Given the description of an element on the screen output the (x, y) to click on. 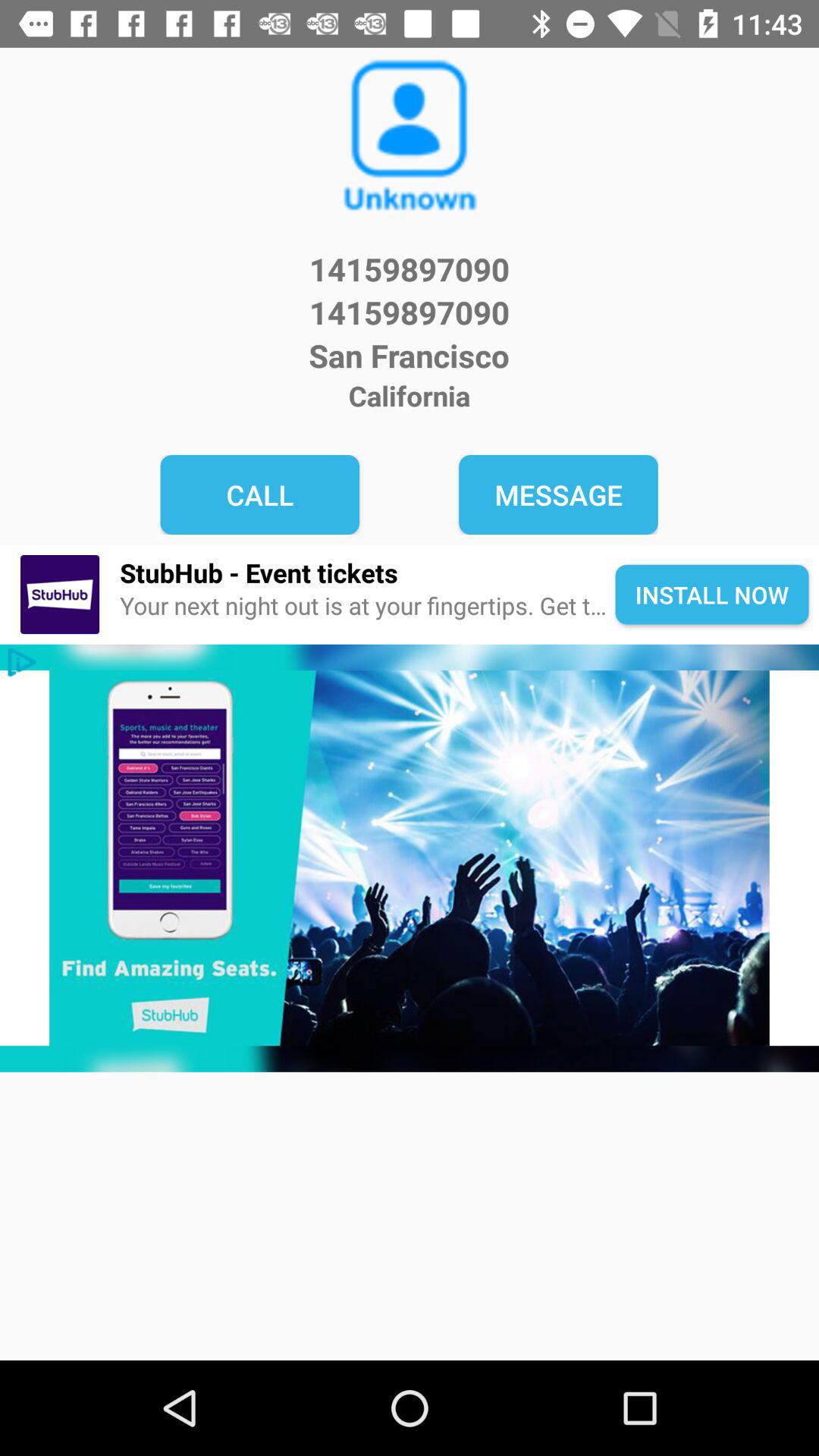
flip to your next night icon (367, 606)
